Given the description of an element on the screen output the (x, y) to click on. 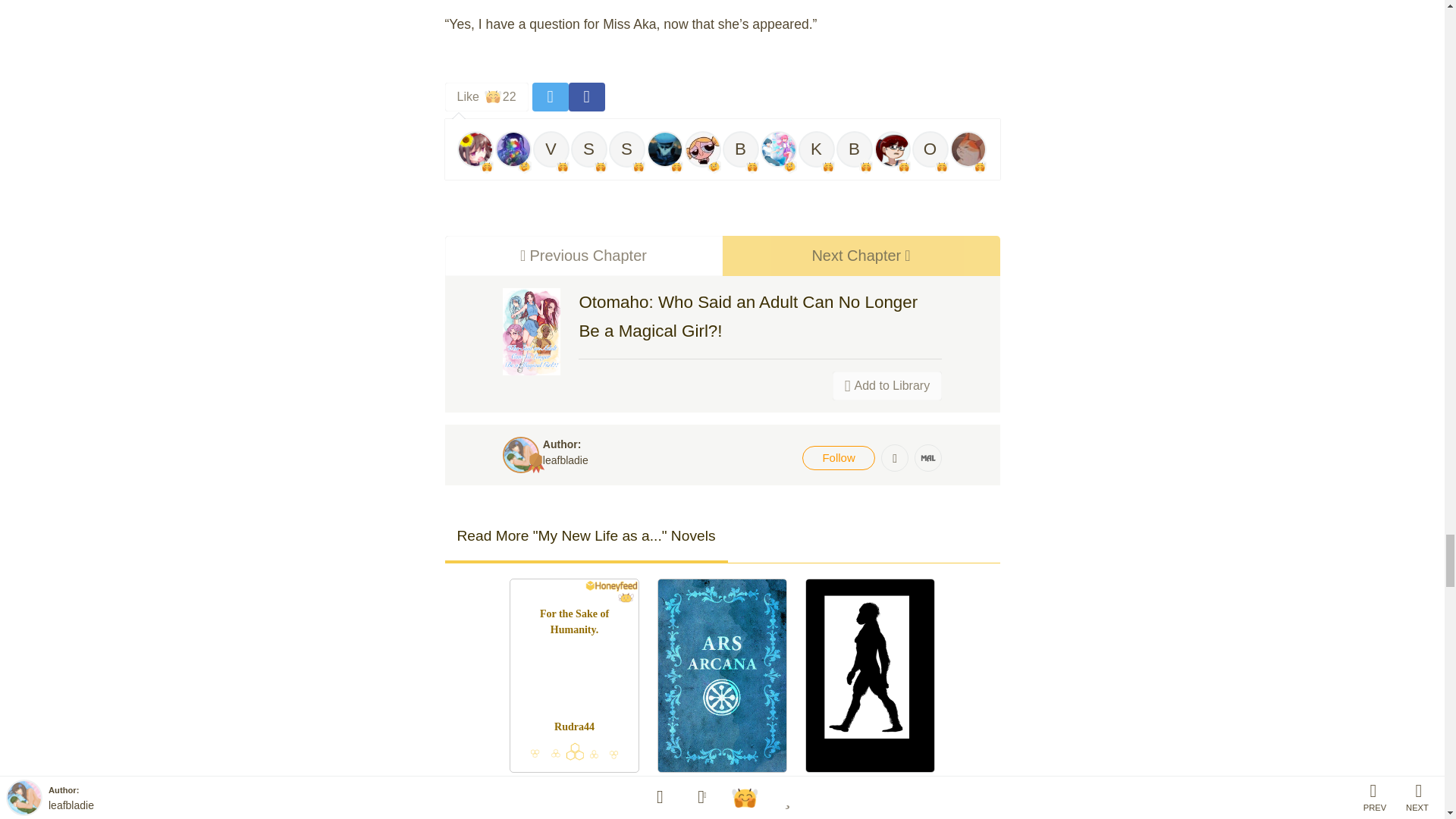
startle stars (588, 149)
Odette (929, 149)
V (860, 254)
B (550, 149)
Bubbles (740, 149)
VirusLord (702, 149)
B (550, 149)
tyauke (853, 149)
Bungie Gummer (475, 149)
